Given the description of an element on the screen output the (x, y) to click on. 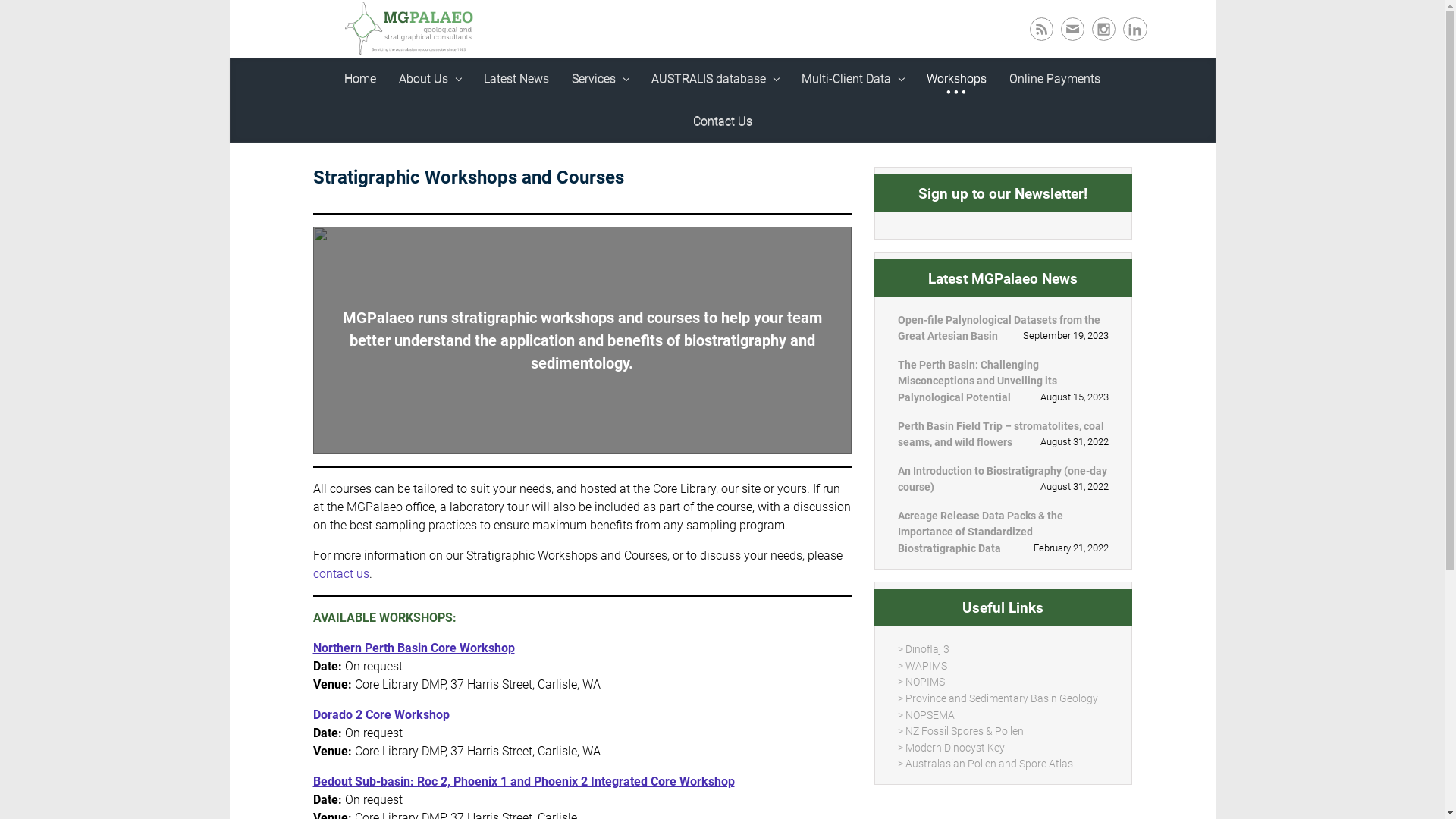
Latest News Element type: text (475, 87)
Home Element type: text (319, 87)
Services Element type: text (558, 87)
RSS Feed Element type: hover (1027, 28)
> NOPSEMA Element type: text (943, 560)
> NZ Fossil Spores & Pollen Element type: text (976, 574)
Instagram Element type: hover (1101, 28)
> Province and Sedimentary Basin Geology Element type: text (1009, 546)
An Introduction to Biostratigraphy (one-day course) Element type: text (1029, 373)
> Dinoflaj 3 Element type: text (941, 502)
Vulcan Sub-basin Core Workshop Series Element type: text (361, 776)
Northern Perth Basin Core Workshop Element type: text (352, 576)
About Us Element type: text (388, 87)
Workshops Element type: text (915, 87)
> Australasian Pollen and Spore Atlas Element type: text (997, 603)
> Modern Dinocyst Key Element type: text (966, 589)
AUSTRALIS database Element type: text (673, 87)
Multi-Client Data Element type: text (811, 87)
Dorado 2 Core Workshop Element type: text (319, 643)
Contact Us Element type: text (1111, 87)
contact us Element type: text (812, 502)
> NOPIMS Element type: text (939, 531)
Online Payments Element type: text (1013, 87)
> WAPIMS Element type: text (940, 516)
LinkedIn Element type: hover (1135, 28)
Newsletter Element type: hover (1065, 28)
